Given the description of an element on the screen output the (x, y) to click on. 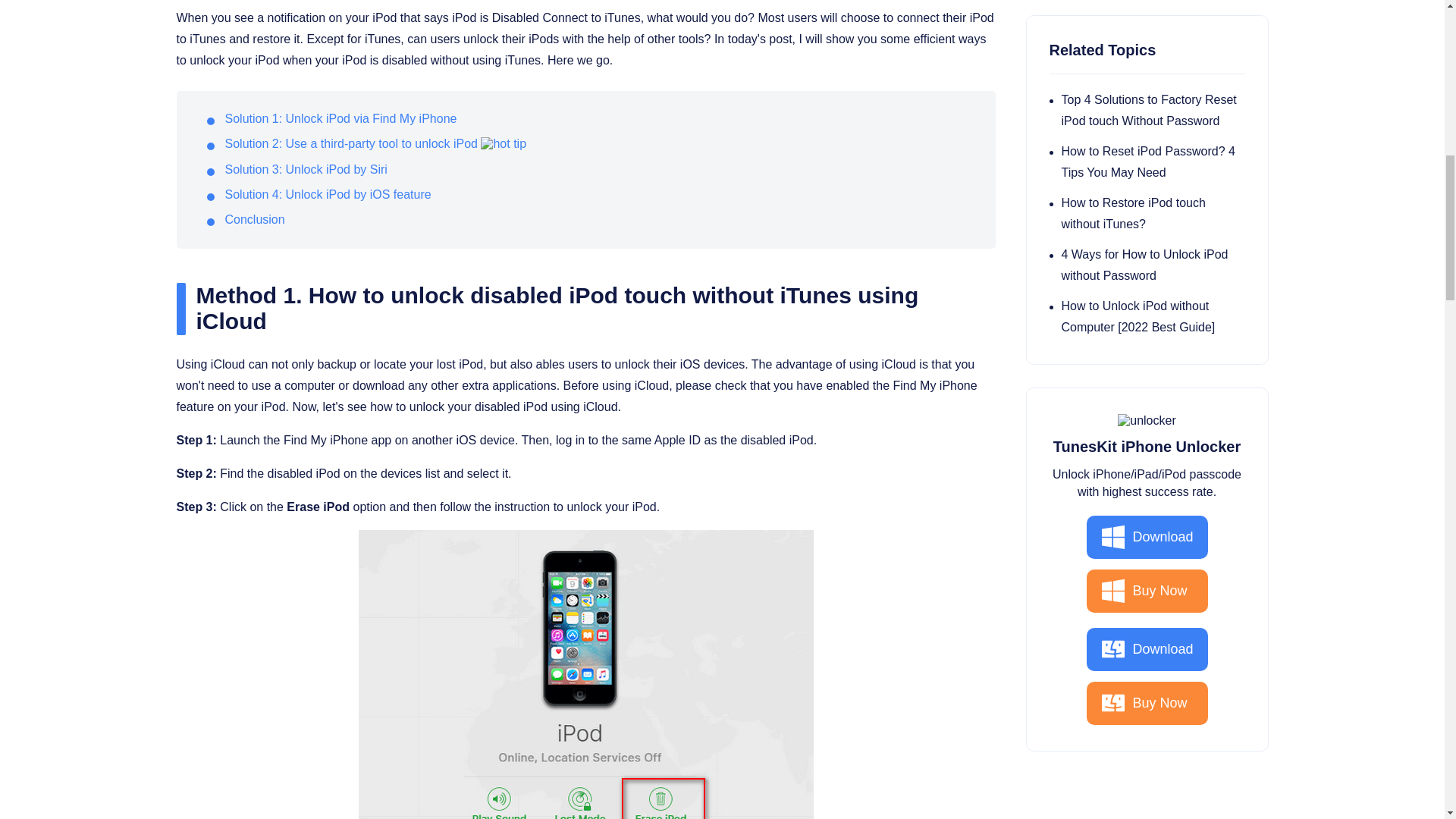
Solution 2: Use a third-party tool to unlock iPod (350, 143)
Solution 3: Unlock iPod by Siri (305, 169)
Conclusion (253, 219)
Solution 4: Unlock iPod by iOS feature (327, 194)
Solution 1: Unlock iPod via Find My iPhone (340, 118)
